Given the description of an element on the screen output the (x, y) to click on. 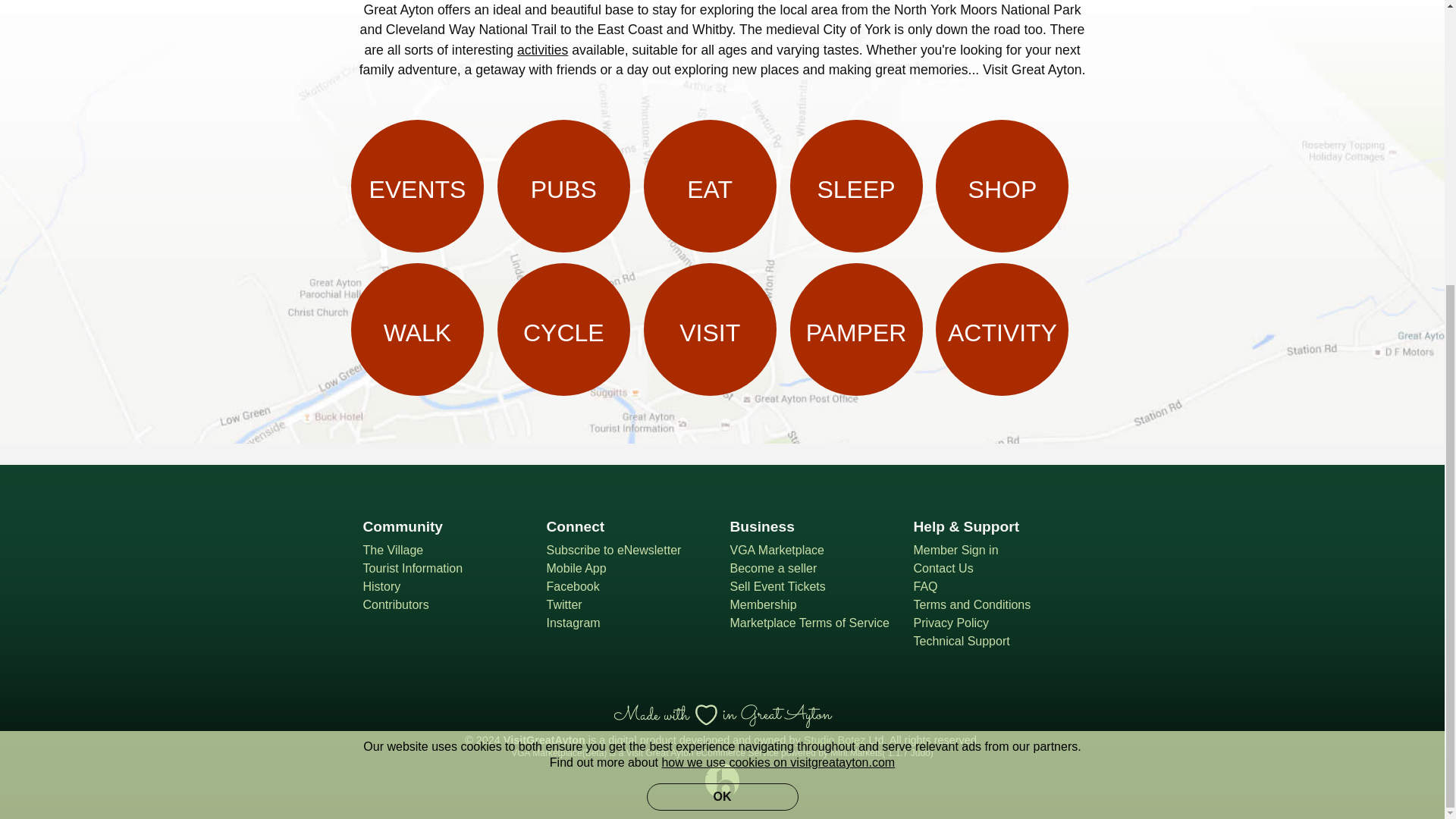
PAMPER (856, 328)
Subscribe to eNewsletter (630, 550)
VGA Marketplace (813, 550)
EAT (709, 185)
SHOP (1002, 185)
Membership (813, 605)
activities (541, 48)
Contributors (446, 605)
Sell Event Tickets (813, 587)
Tourist Information (446, 568)
Events in Great Ayton (416, 185)
ACTIVITY (1002, 328)
Family activities in Great Ayton (541, 48)
Instagram (630, 623)
WALK (416, 328)
